Given the description of an element on the screen output the (x, y) to click on. 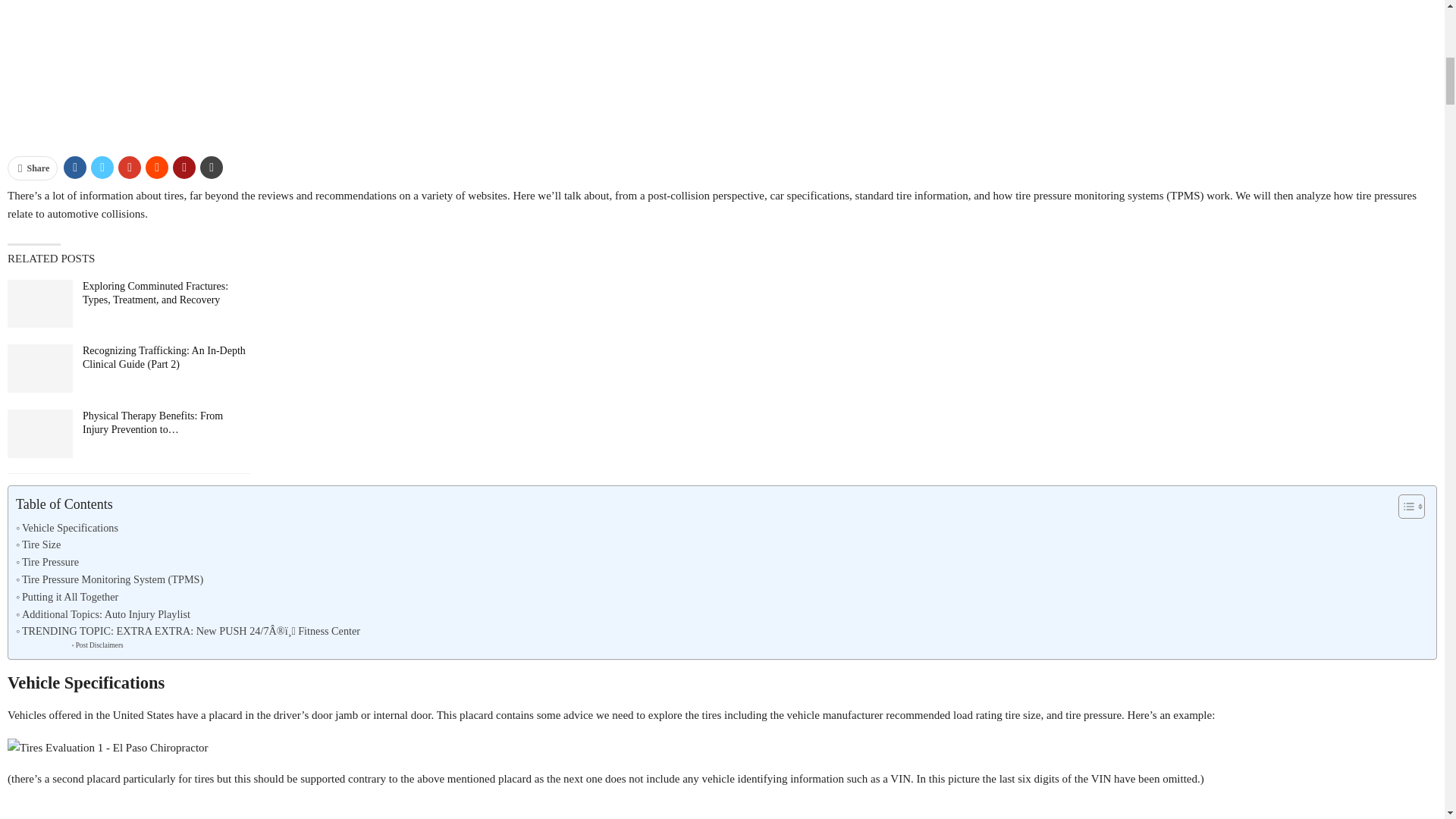
Tire Size (38, 544)
Putting it All Together (66, 597)
Tire Pressure (47, 561)
Vehicle Specifications (66, 528)
Additional Topics: Auto Injury Playlist (103, 614)
Post Disclaimers (96, 645)
